Given the description of an element on the screen output the (x, y) to click on. 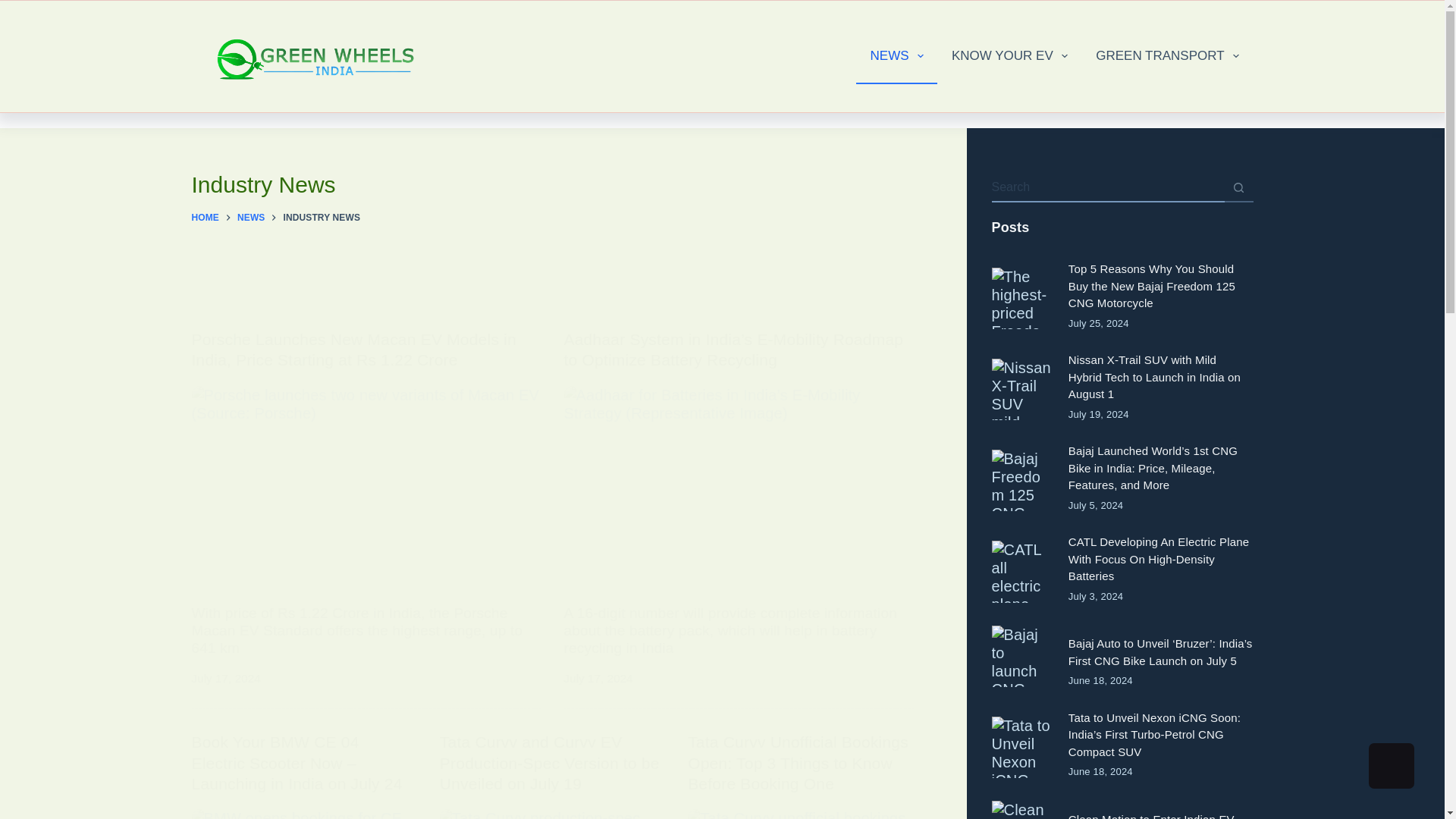
GREEN TRANSPORT (1167, 55)
KNOW YOUR EV (1009, 55)
Search for... (1107, 187)
Skip to content (15, 7)
NEWS (896, 55)
Industry News (551, 184)
HOME (204, 217)
